Given the description of an element on the screen output the (x, y) to click on. 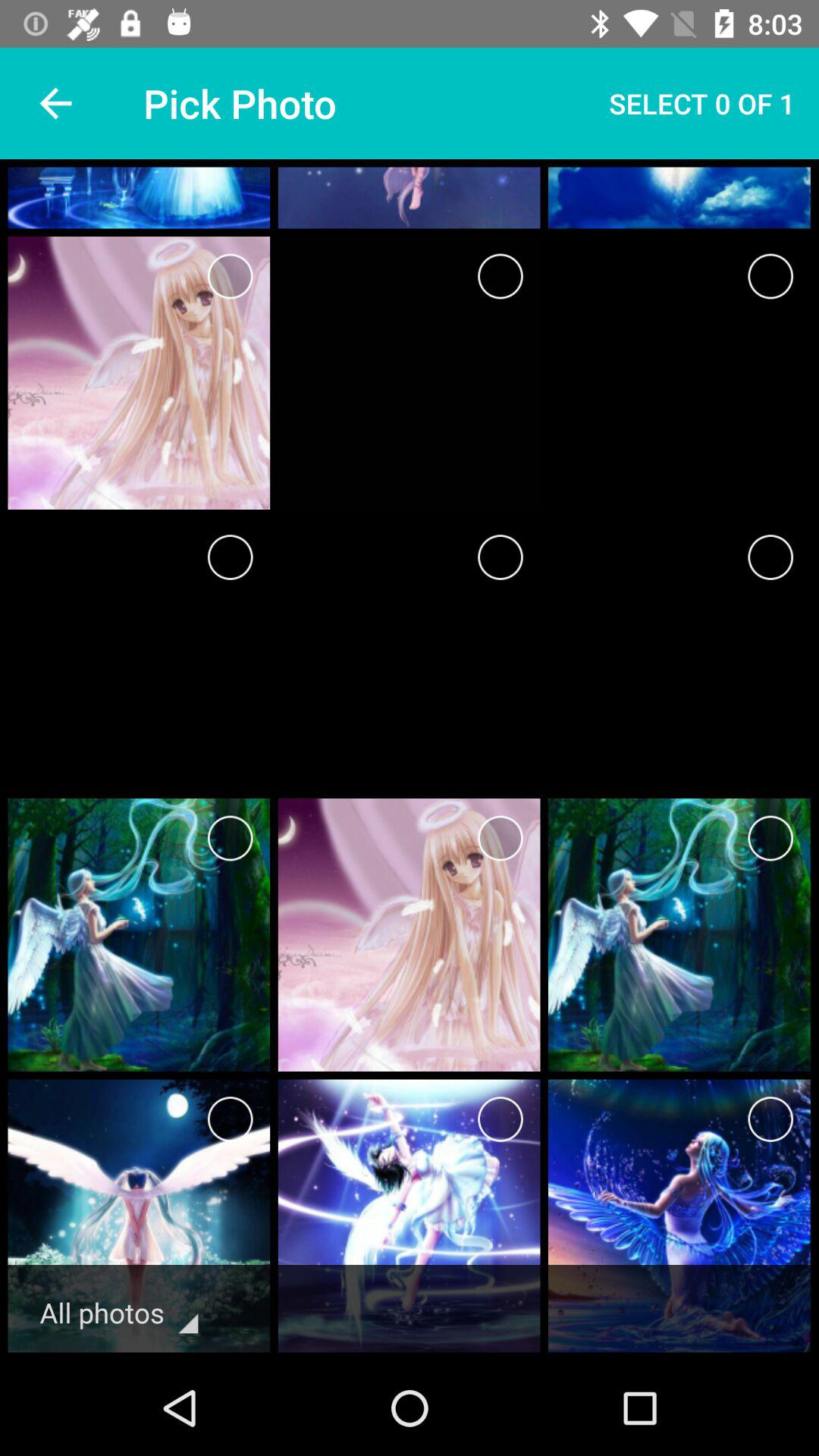
choose the image (770, 838)
